Given the description of an element on the screen output the (x, y) to click on. 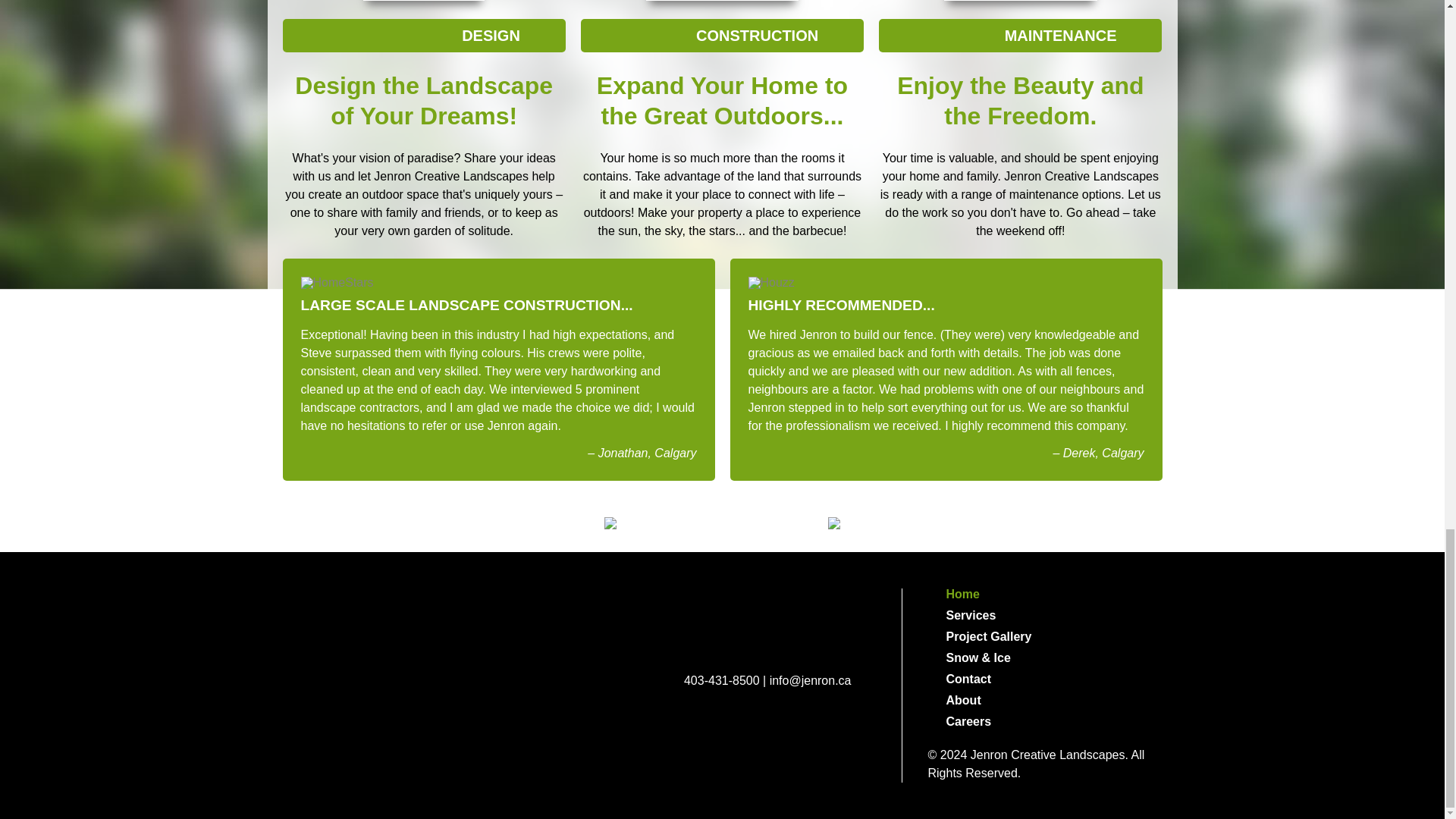
Landscape Alberta 2022 (431, 635)
Contact (1044, 679)
Home (1044, 594)
Careers (1044, 721)
CONSTRUCTION (721, 35)
MAINTENANCE (1020, 35)
About (1044, 700)
Landscape Alberta 2023 (329, 635)
Landscape Alberta 2021 (533, 635)
Instagram (831, 741)
